Given the description of an element on the screen output the (x, y) to click on. 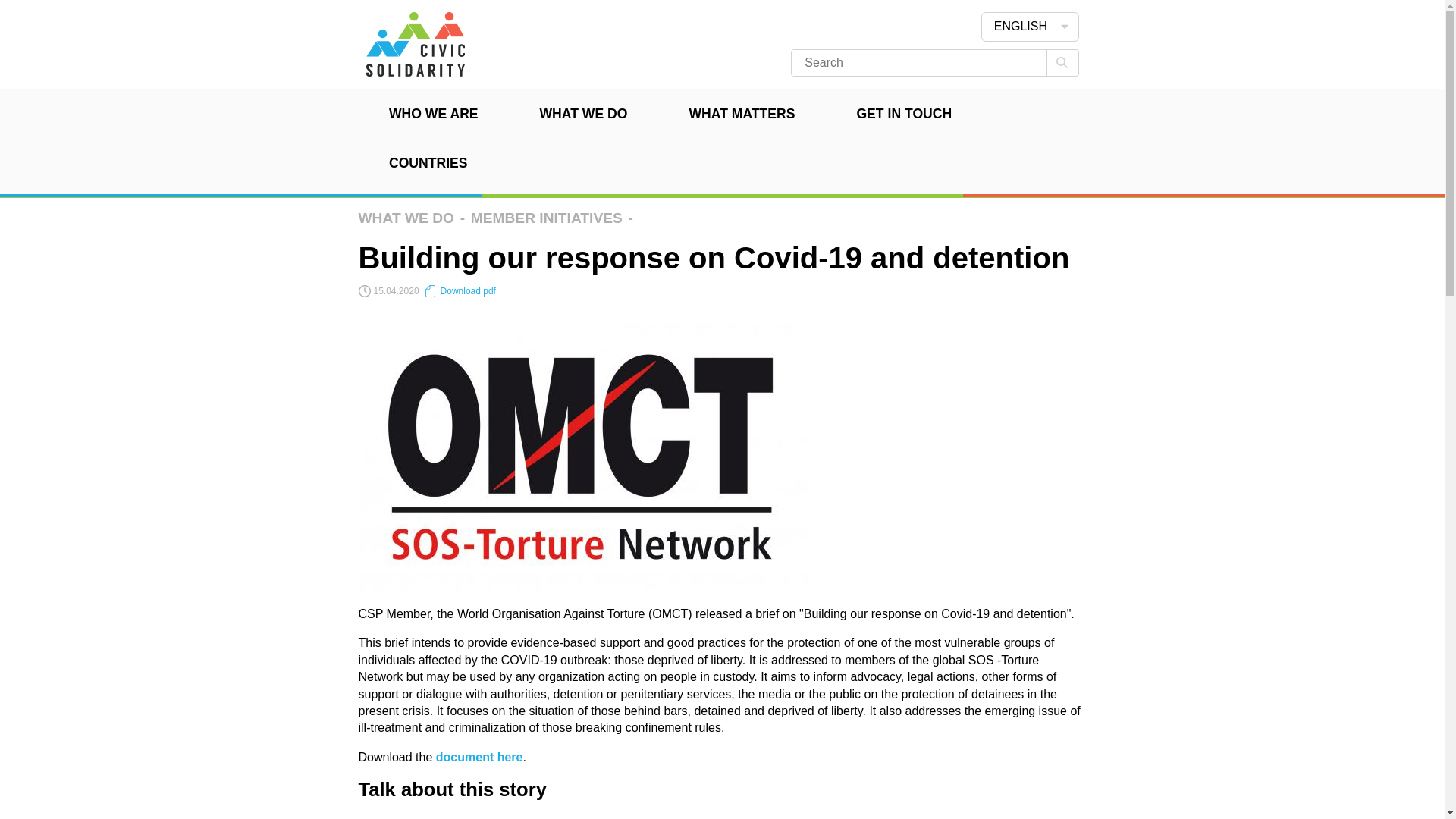
Home (414, 67)
Open (1064, 26)
GET IN TOUCH (903, 113)
ENGLISH (1013, 26)
Search (1061, 62)
Search (1061, 62)
Enter the terms you wish to search for. (907, 62)
